Given the description of an element on the screen output the (x, y) to click on. 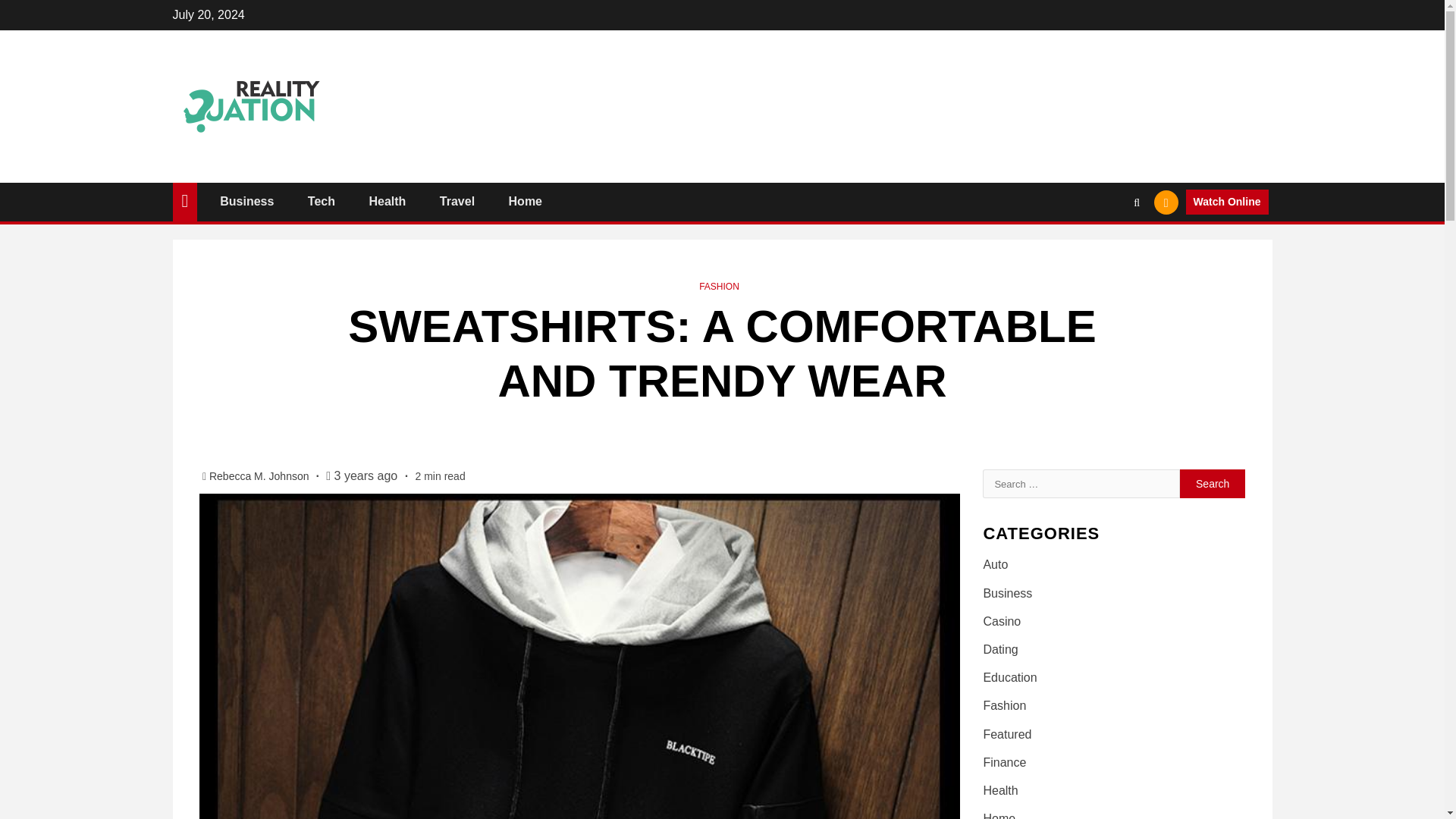
Business (246, 201)
Tech (320, 201)
Search (1212, 483)
Health (387, 201)
Search (1106, 247)
Home (524, 201)
Business (1007, 592)
Rebecca M. Johnson (260, 476)
Travel (456, 201)
Watch Online (1227, 202)
Auto (994, 563)
Search (1212, 483)
FASHION (718, 286)
Search (1212, 483)
